Given the description of an element on the screen output the (x, y) to click on. 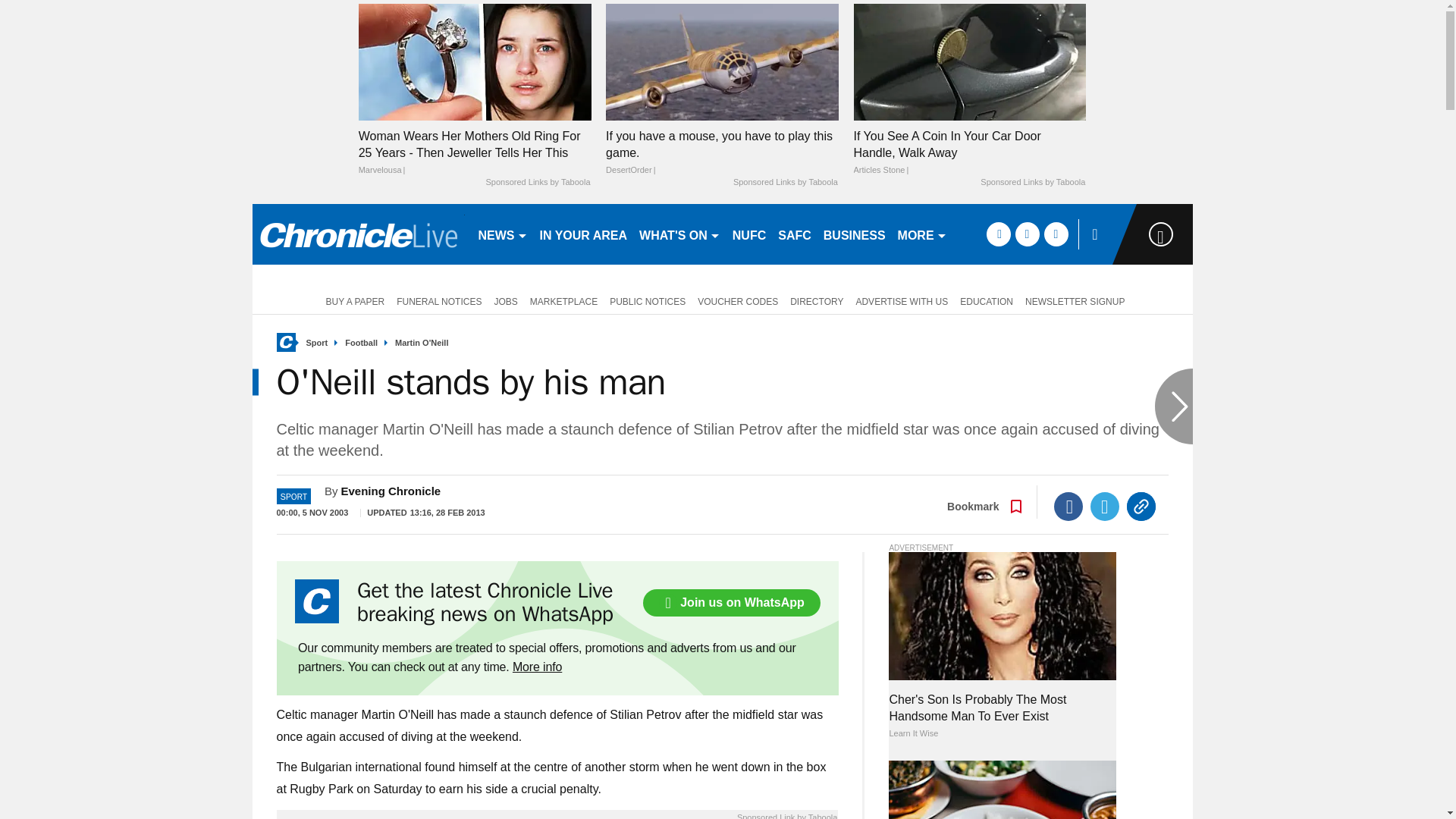
If You See A Coin In Your Car Door Handle, Walk Away (969, 152)
nechronicle (357, 233)
facebook (997, 233)
instagram (1055, 233)
Facebook (1068, 506)
Twitter (1104, 506)
Sponsored Links by Taboola (536, 182)
WHAT'S ON (679, 233)
Sponsored Links by Taboola (785, 182)
IN YOUR AREA (583, 233)
twitter (1026, 233)
NEWS (501, 233)
Sponsored Links by Taboola (1031, 182)
